Given the description of an element on the screen output the (x, y) to click on. 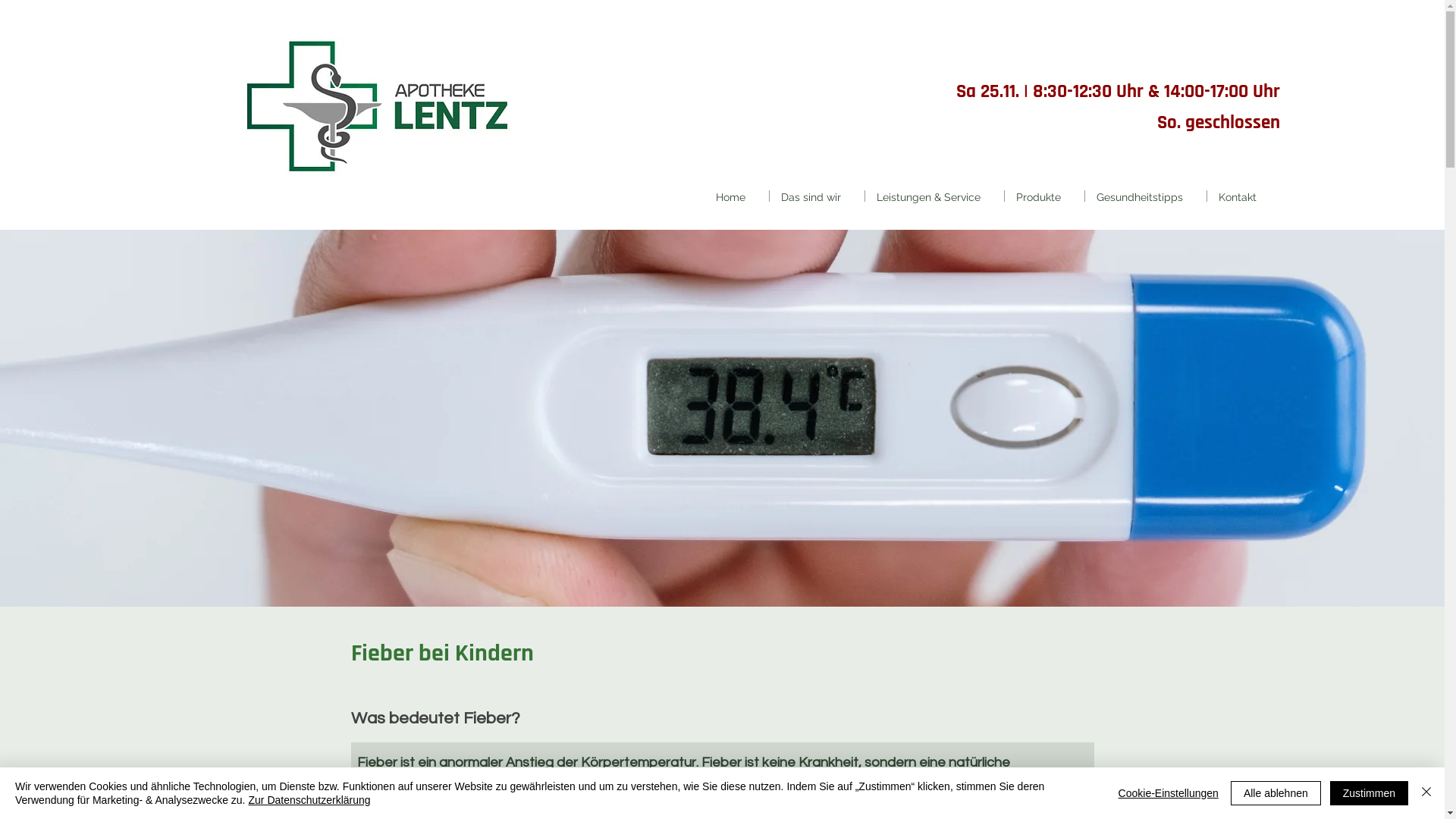
Home Element type: text (736, 195)
Gesundheitstipps Element type: text (1145, 195)
Kontakt Element type: text (1243, 195)
Zustimmen Element type: text (1369, 793)
Produkte Element type: text (1044, 195)
Das sind wir Element type: text (816, 195)
Leistungen & Service Element type: text (934, 195)
Alle ablehnen Element type: text (1275, 793)
